Given the description of an element on the screen output the (x, y) to click on. 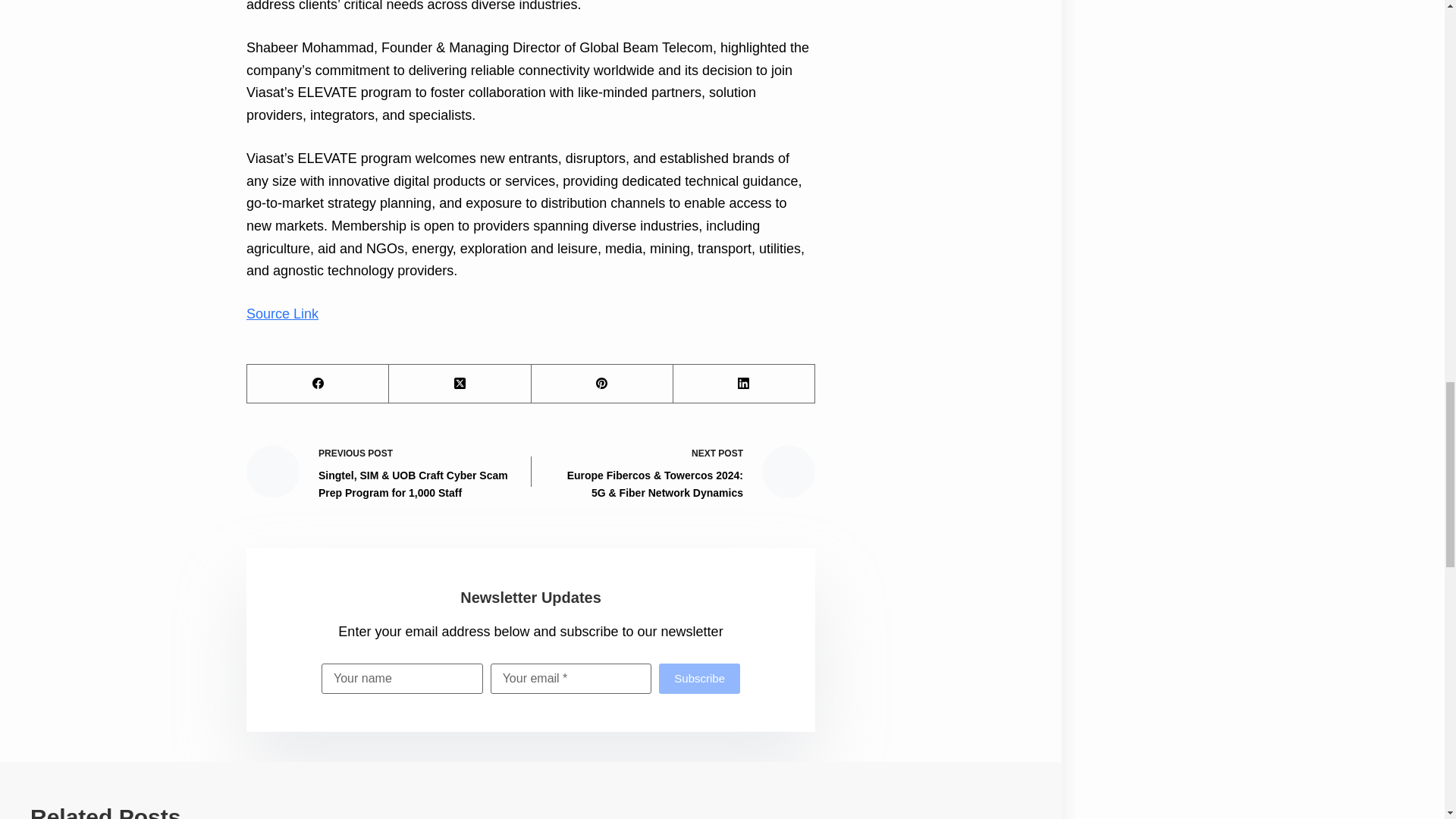
Subscribe (699, 678)
Source Link (282, 313)
